Given the description of an element on the screen output the (x, y) to click on. 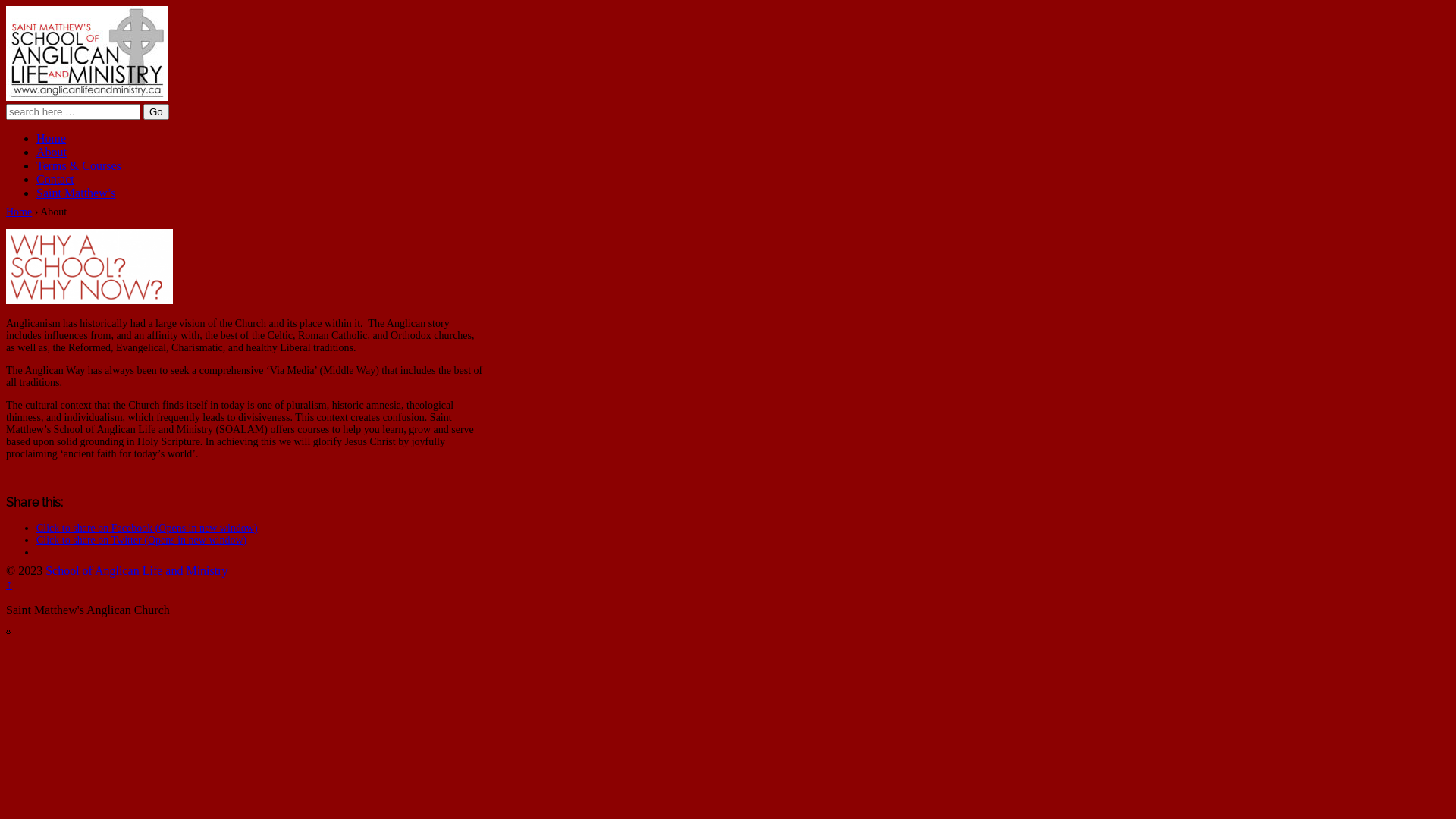
About Element type: text (51, 151)
Home Element type: text (18, 211)
About Element type: hover (89, 266)
Home Element type: text (50, 137)
Terms & Courses Element type: text (78, 165)
School of Anglican Life and Ministry Element type: text (134, 570)
Contact Element type: text (55, 178)
Click to share on Twitter (Opens in new window) Element type: text (141, 540)
Go Element type: text (156, 111)
Click to share on Facebook (Opens in new window) Element type: text (146, 527)
